Given the description of an element on the screen output the (x, y) to click on. 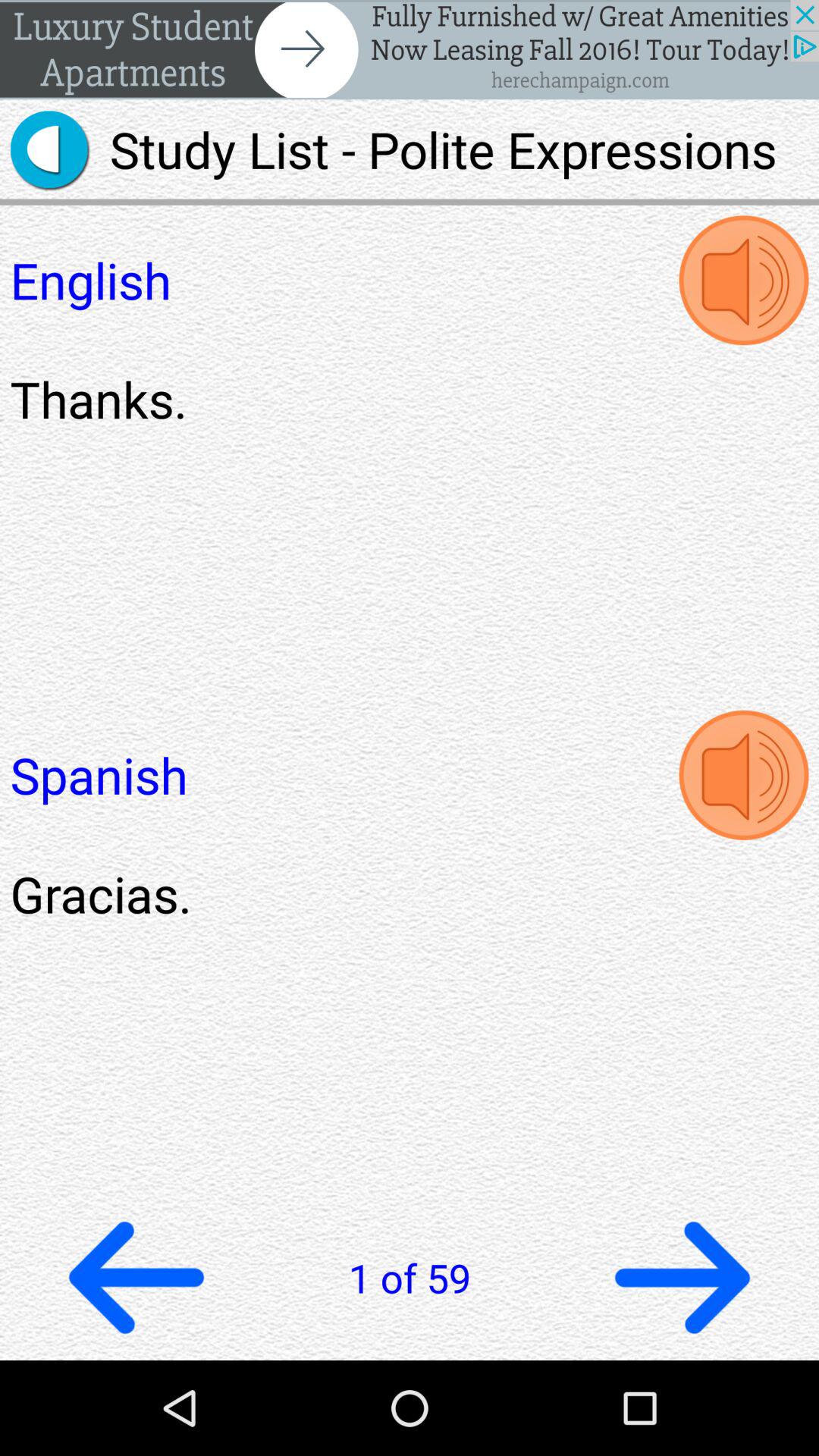
play audio (743, 775)
